Given the description of an element on the screen output the (x, y) to click on. 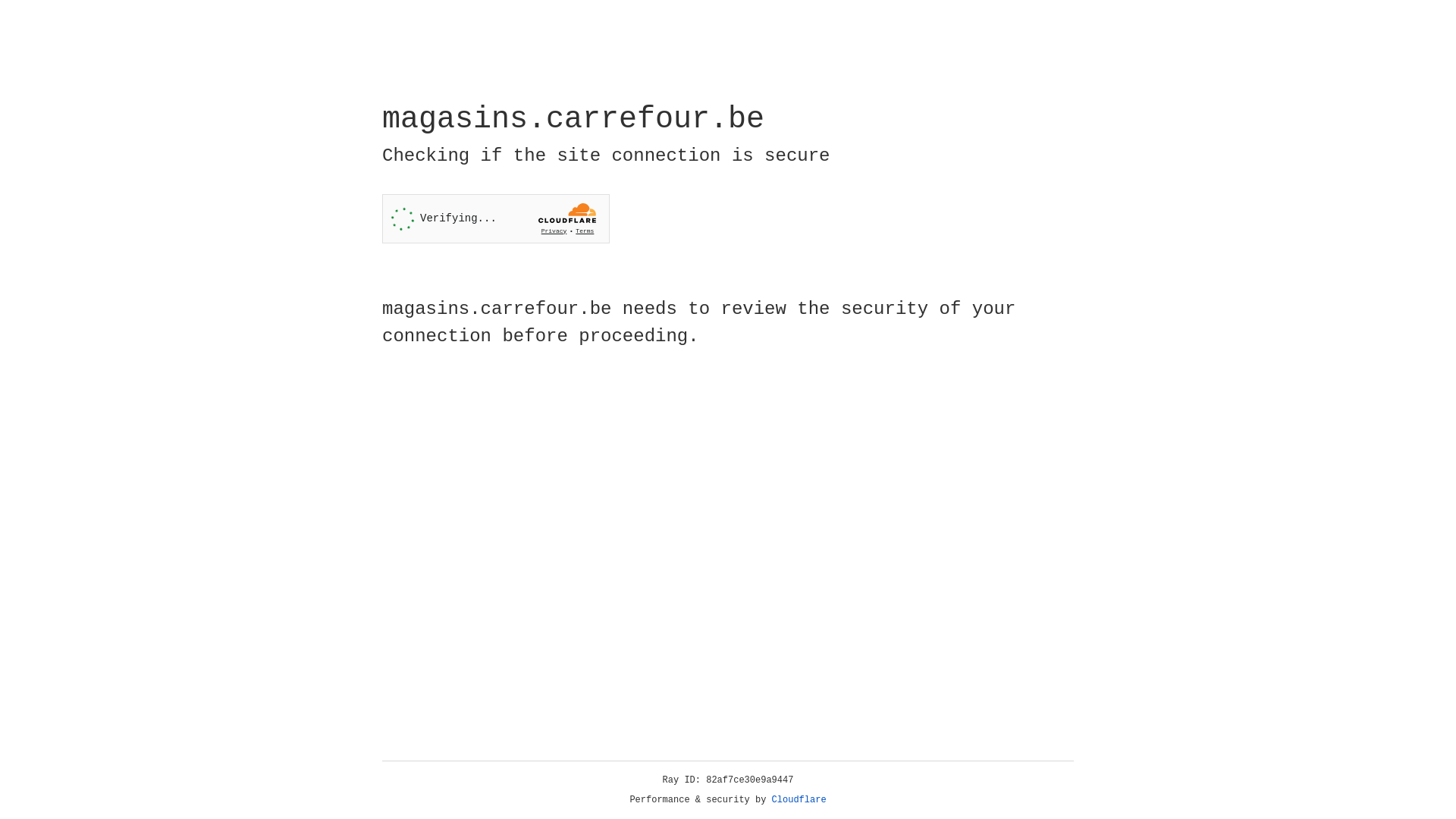
Cloudflare Element type: text (798, 799)
Widget containing a Cloudflare security challenge Element type: hover (495, 218)
